Given the description of an element on the screen output the (x, y) to click on. 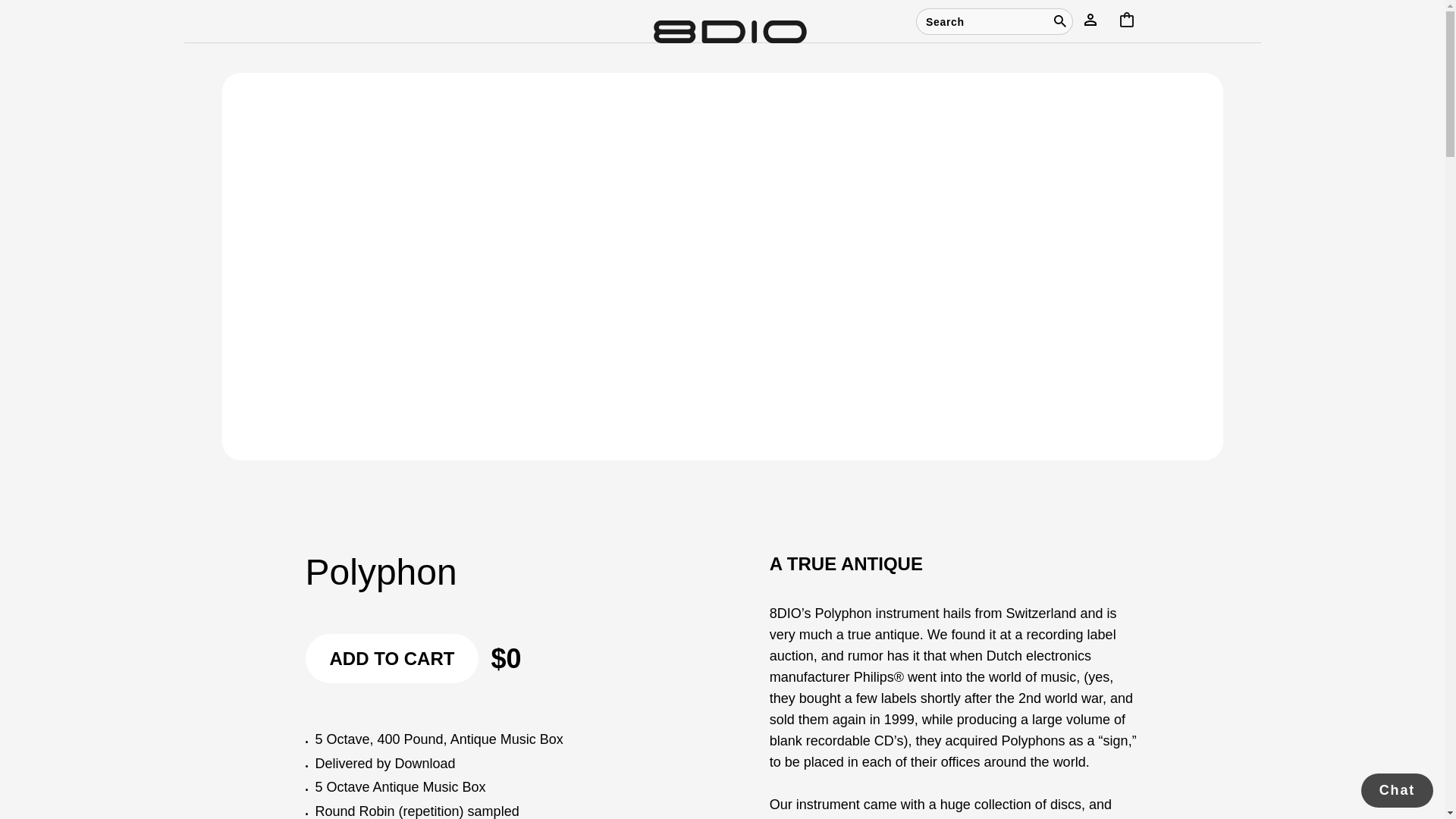
ADD TO CART (391, 658)
Chat (1396, 790)
